Given the description of an element on the screen output the (x, y) to click on. 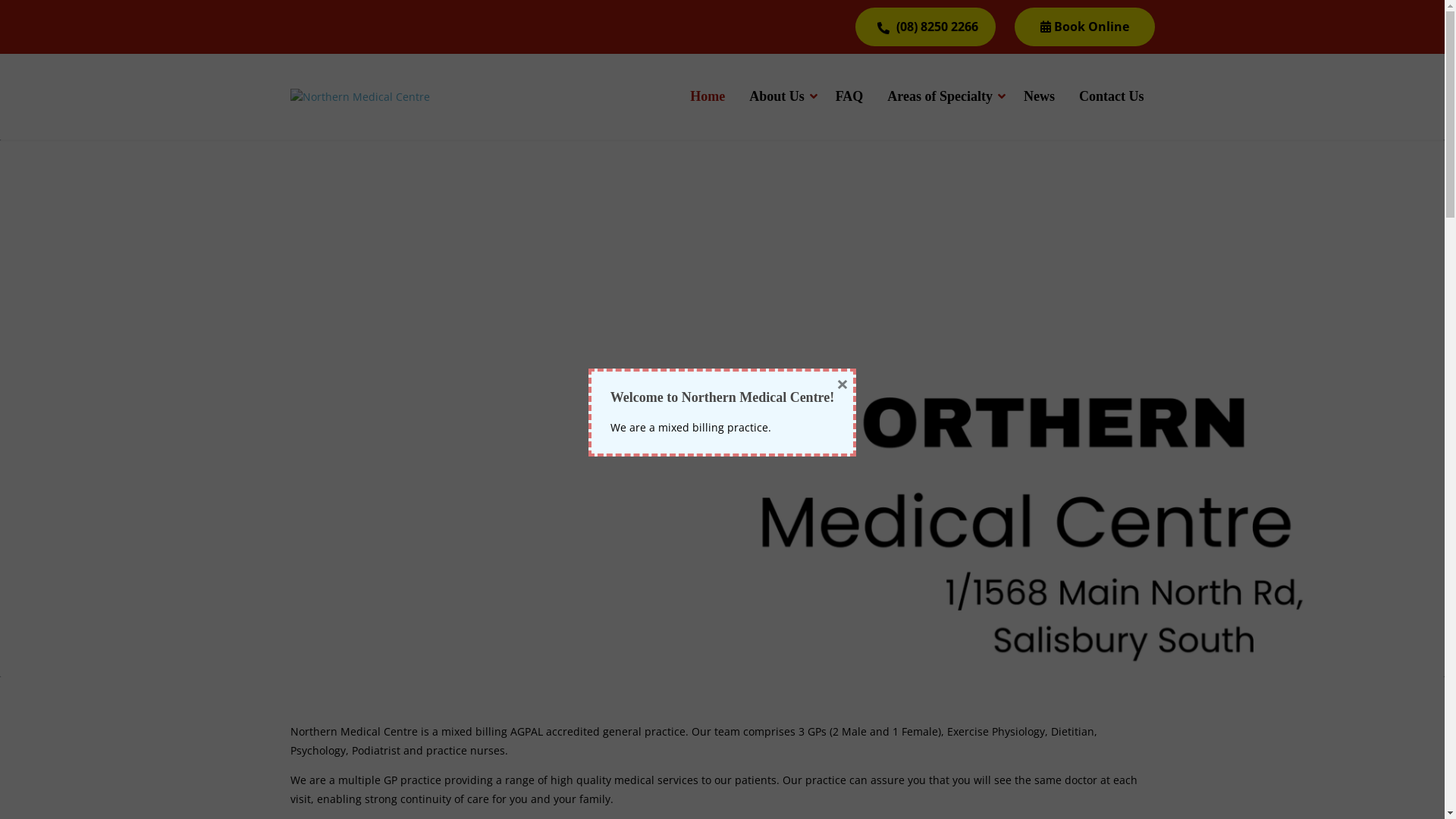
(08) 8250 2266 Element type: text (925, 26)
Contact Us Element type: text (1111, 96)
Home Element type: text (707, 96)
About Us Element type: text (780, 96)
Book Online Element type: text (1084, 26)
News Element type: text (1039, 96)
Northern Medical Centre Element type: hover (359, 96)
Areas of Specialty Element type: text (943, 96)
FAQ Element type: text (849, 96)
